Given the description of an element on the screen output the (x, y) to click on. 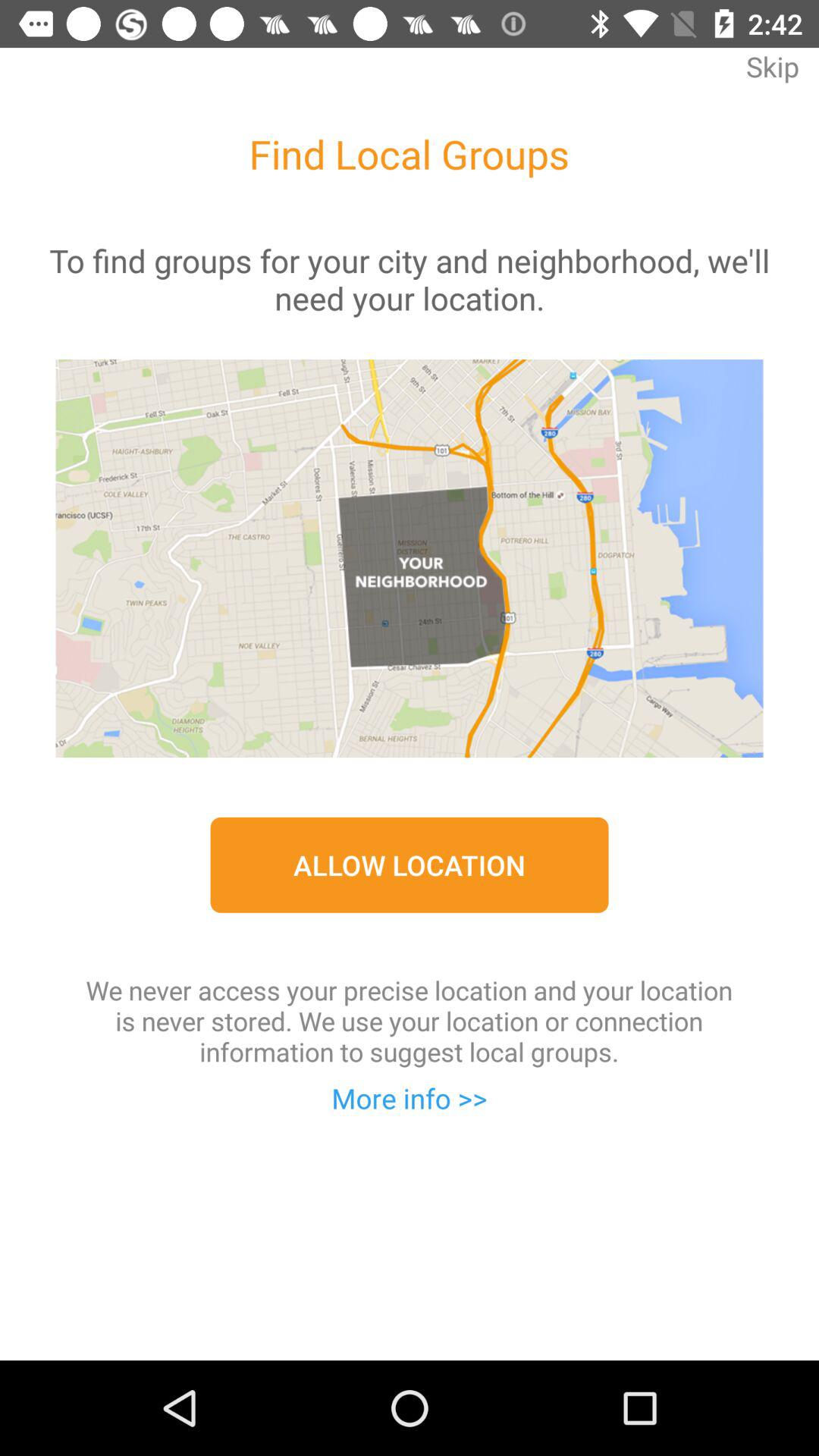
tap the item below we never access item (409, 1098)
